Given the description of an element on the screen output the (x, y) to click on. 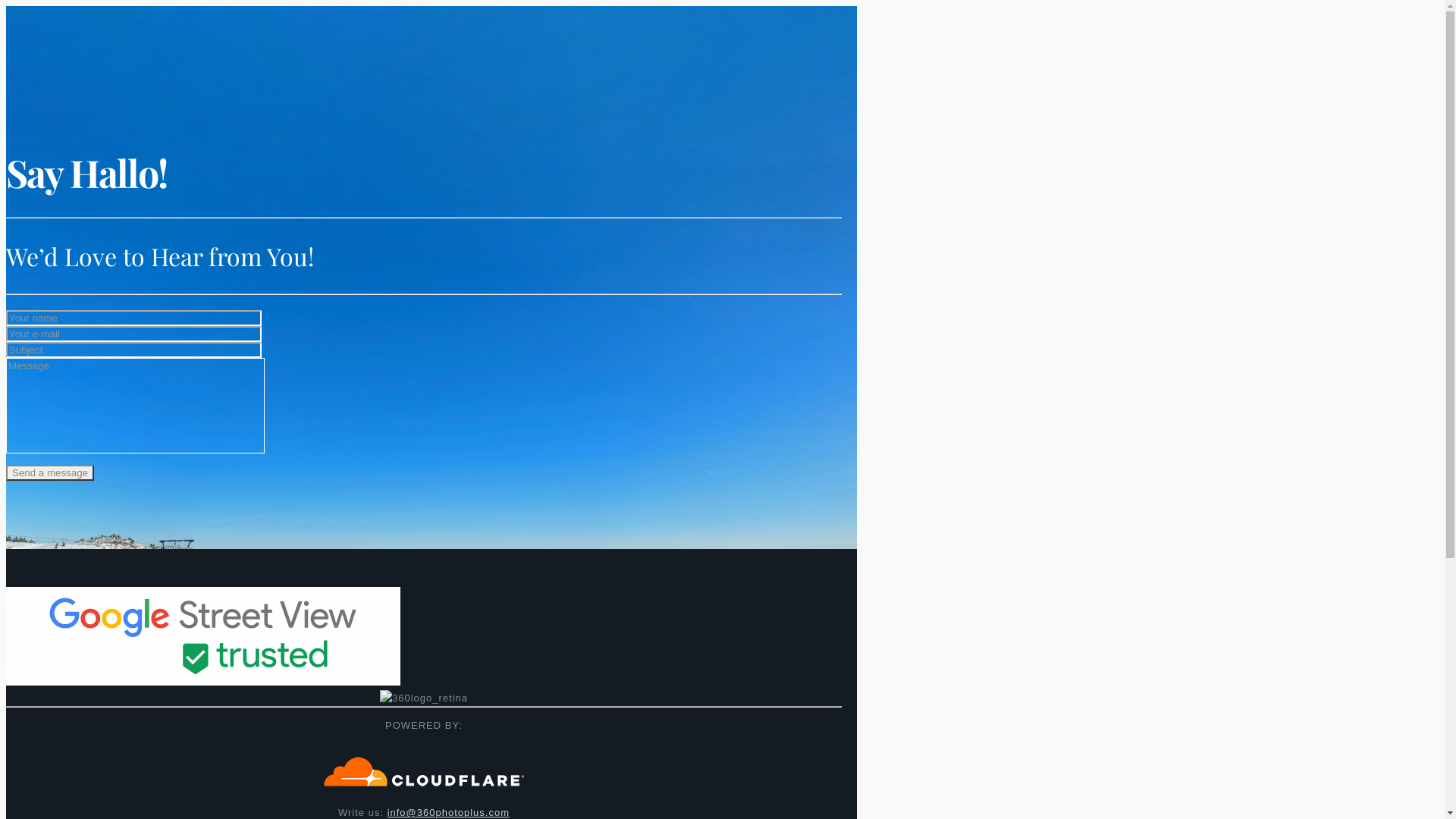
info@360photoplus.com Element type: text (448, 812)
Send a message Element type: text (50, 472)
